Given the description of an element on the screen output the (x, y) to click on. 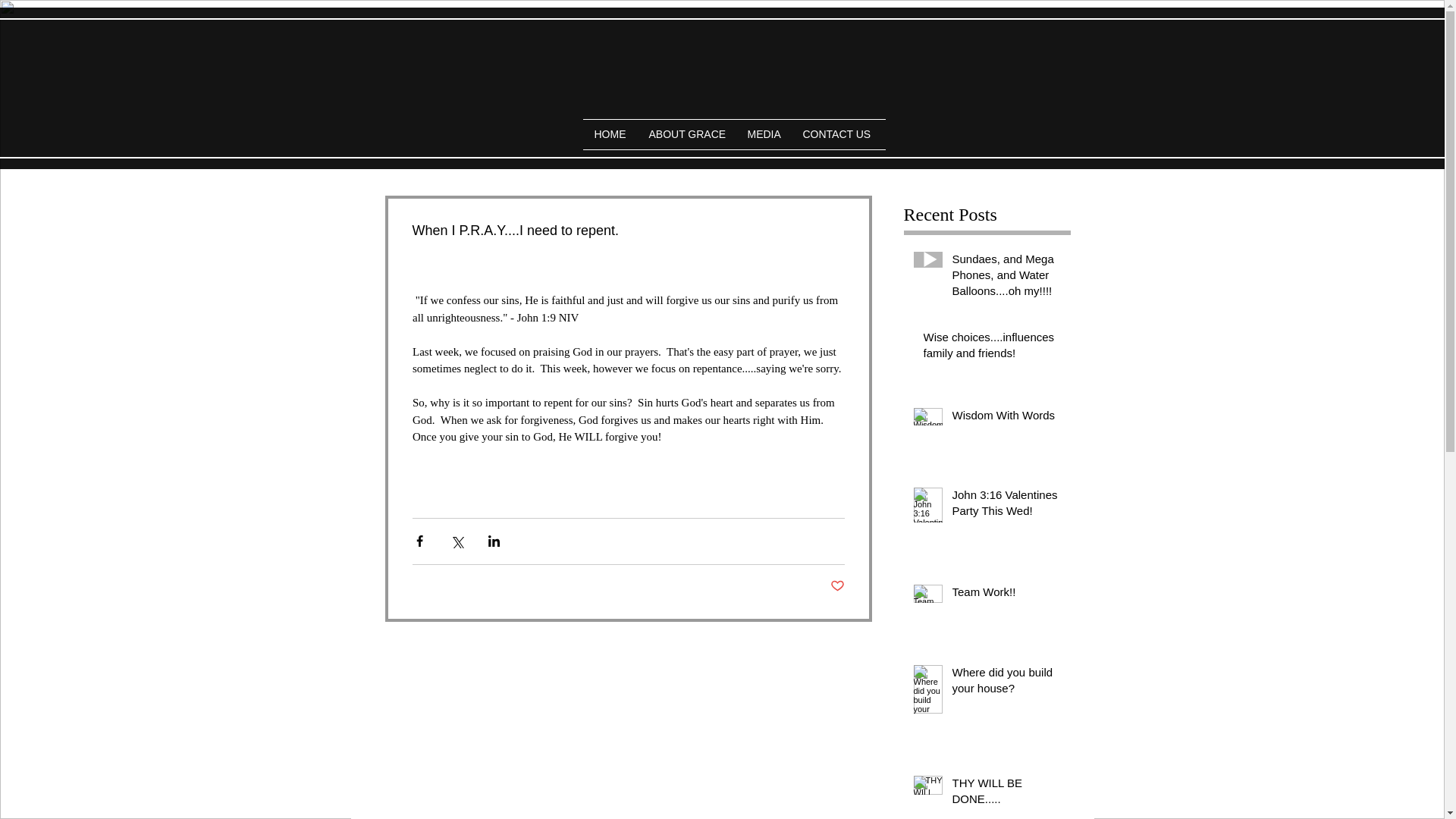
ABOUT GRACE (686, 134)
THY WILL BE DONE..... (1006, 793)
Wisdom With Words (1006, 418)
Wise choices....influences family and friends! (992, 347)
John 3:16 Valentines Party This Wed! (1006, 505)
Team Work!! (1006, 594)
HOME (609, 134)
Sundaes, and Mega Phones, and Water Balloons....oh my!!!! (1006, 277)
CONTACT US (837, 134)
Where did you build your house? (1006, 682)
